Given the description of an element on the screen output the (x, y) to click on. 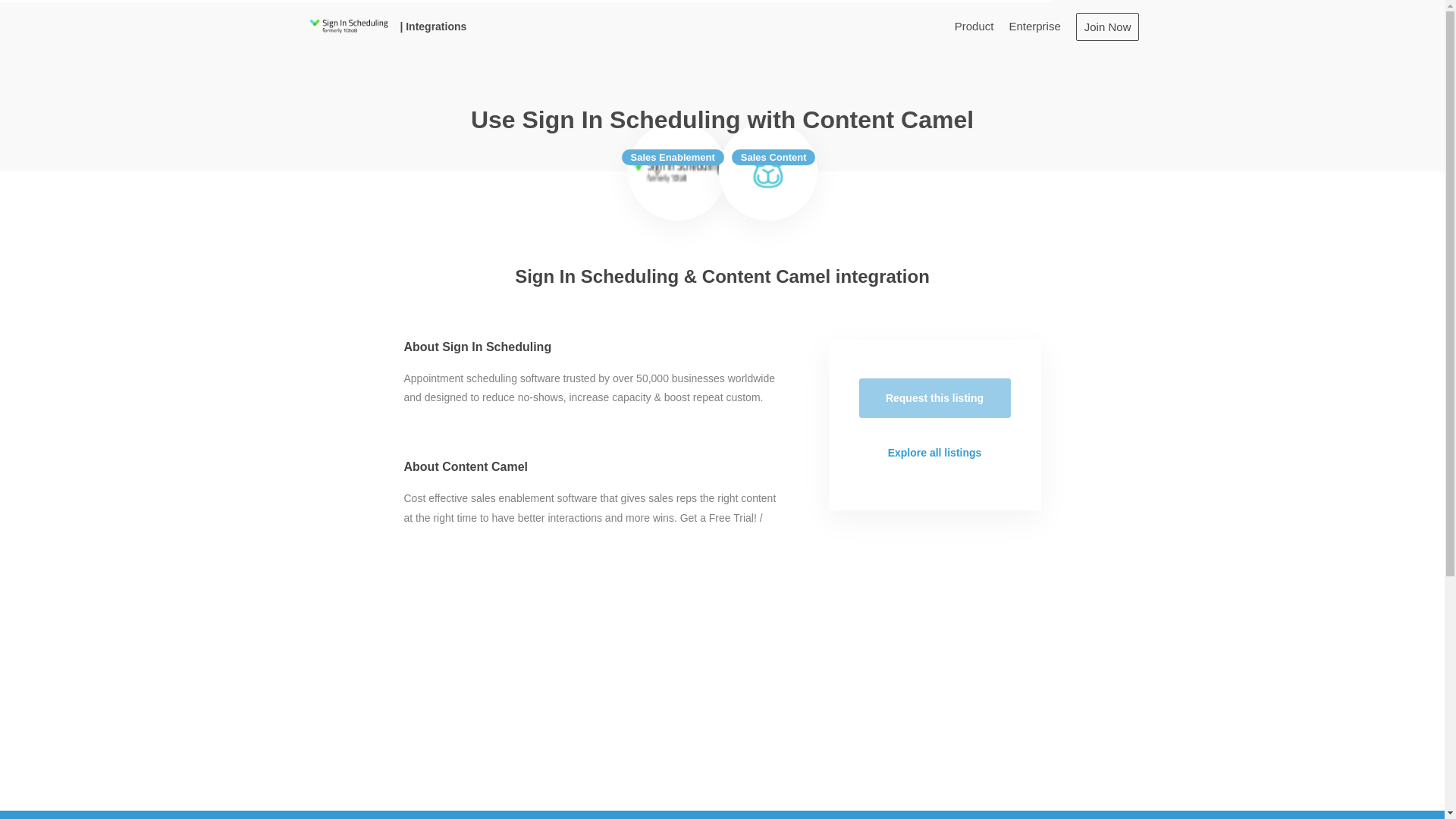
Content Camel (768, 171)
Product (974, 25)
Join Now (1107, 26)
Explore all listings (934, 452)
Sign In Scheduling (347, 26)
Enterprise (1034, 25)
Sign In Scheduling (676, 171)
Request this listing (934, 397)
